Given the description of an element on the screen output the (x, y) to click on. 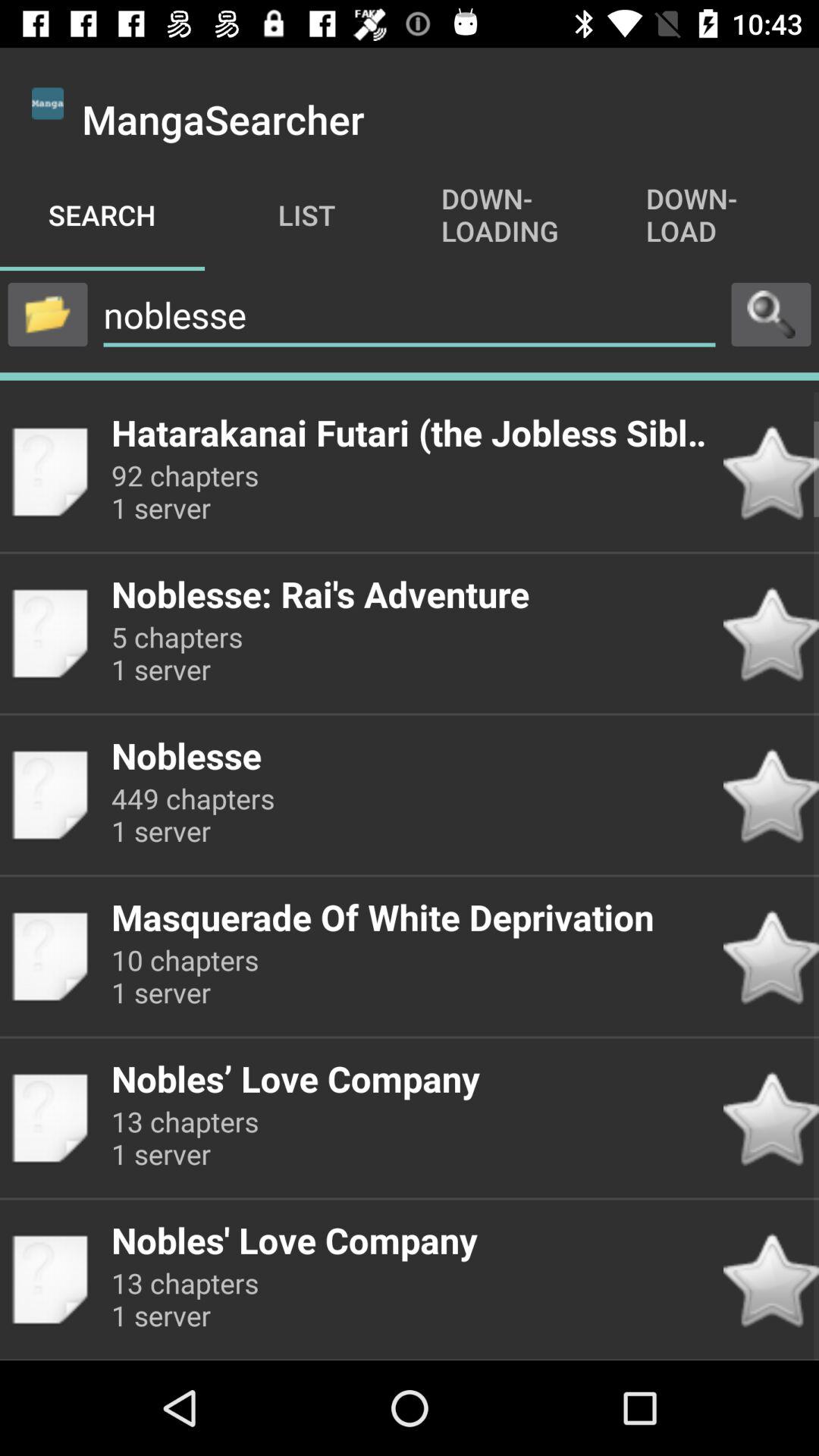
search button (771, 314)
